Given the description of an element on the screen output the (x, y) to click on. 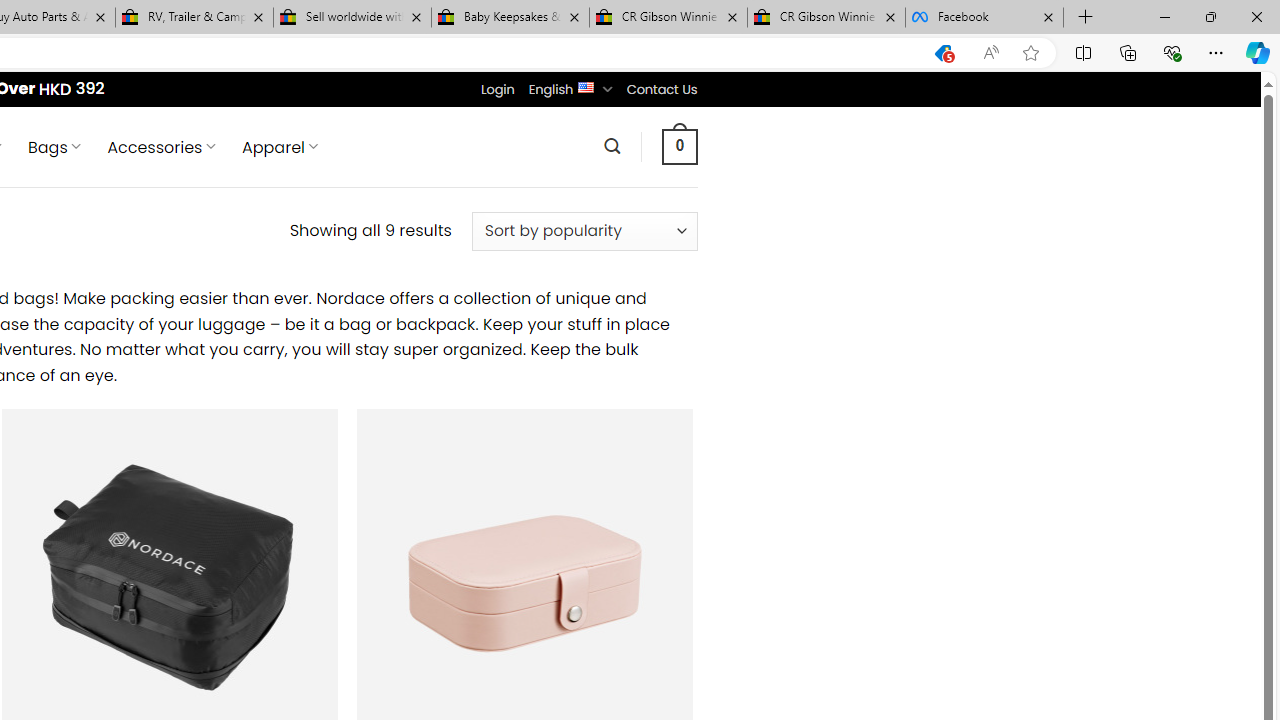
Sell worldwide with eBay (352, 17)
Minimize (1164, 16)
  0   (679, 146)
Close tab (1048, 16)
Collections (1128, 52)
Shop order (584, 231)
Close (1256, 16)
 0  (679, 146)
Search (612, 146)
Baby Keepsakes & Announcements for sale | eBay (509, 17)
Contact Us (661, 89)
New Tab (1085, 17)
